Given the description of an element on the screen output the (x, y) to click on. 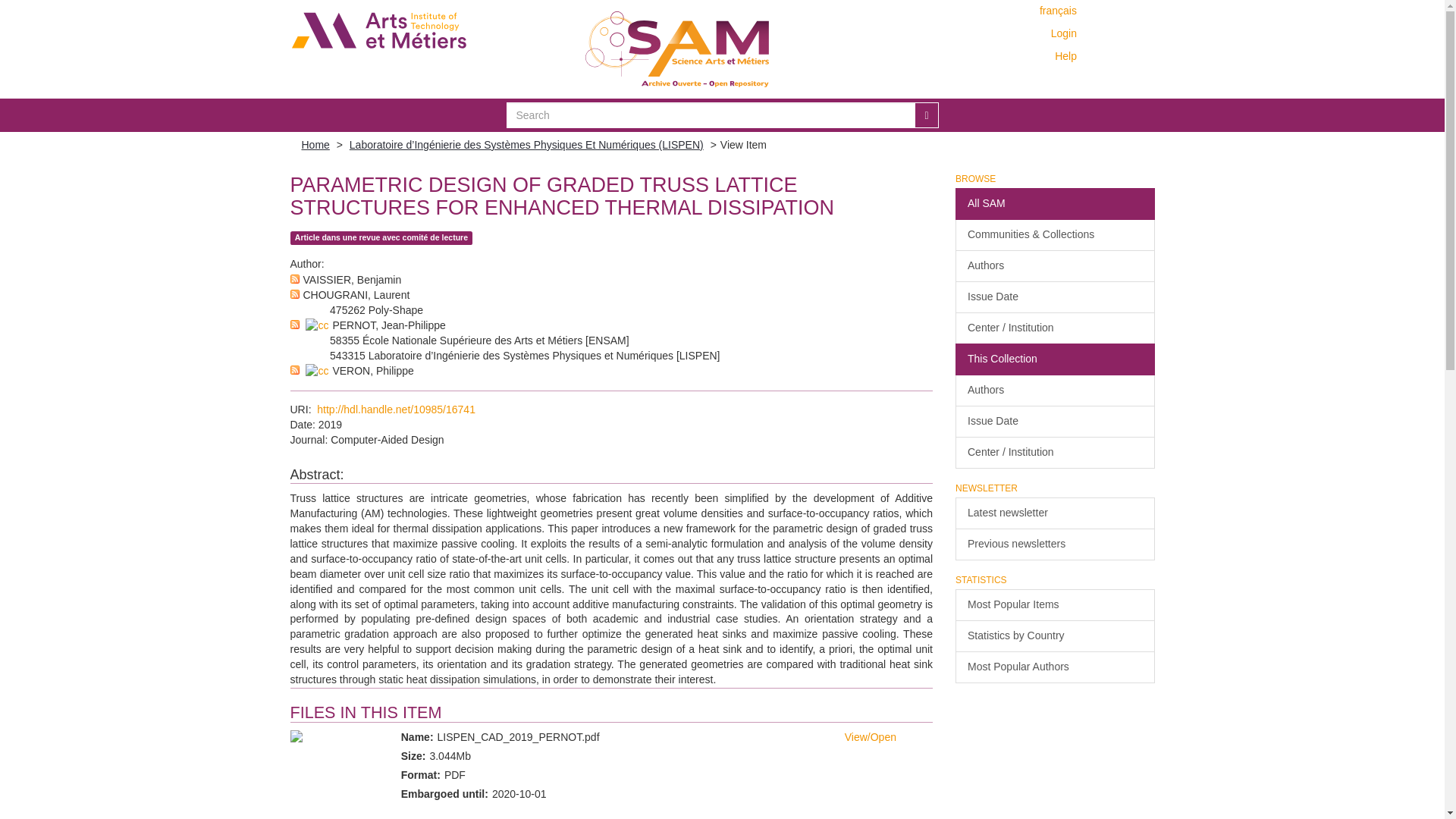
Login (1064, 33)
Go (925, 114)
Home (315, 144)
Help (1067, 56)
